Given the description of an element on the screen output the (x, y) to click on. 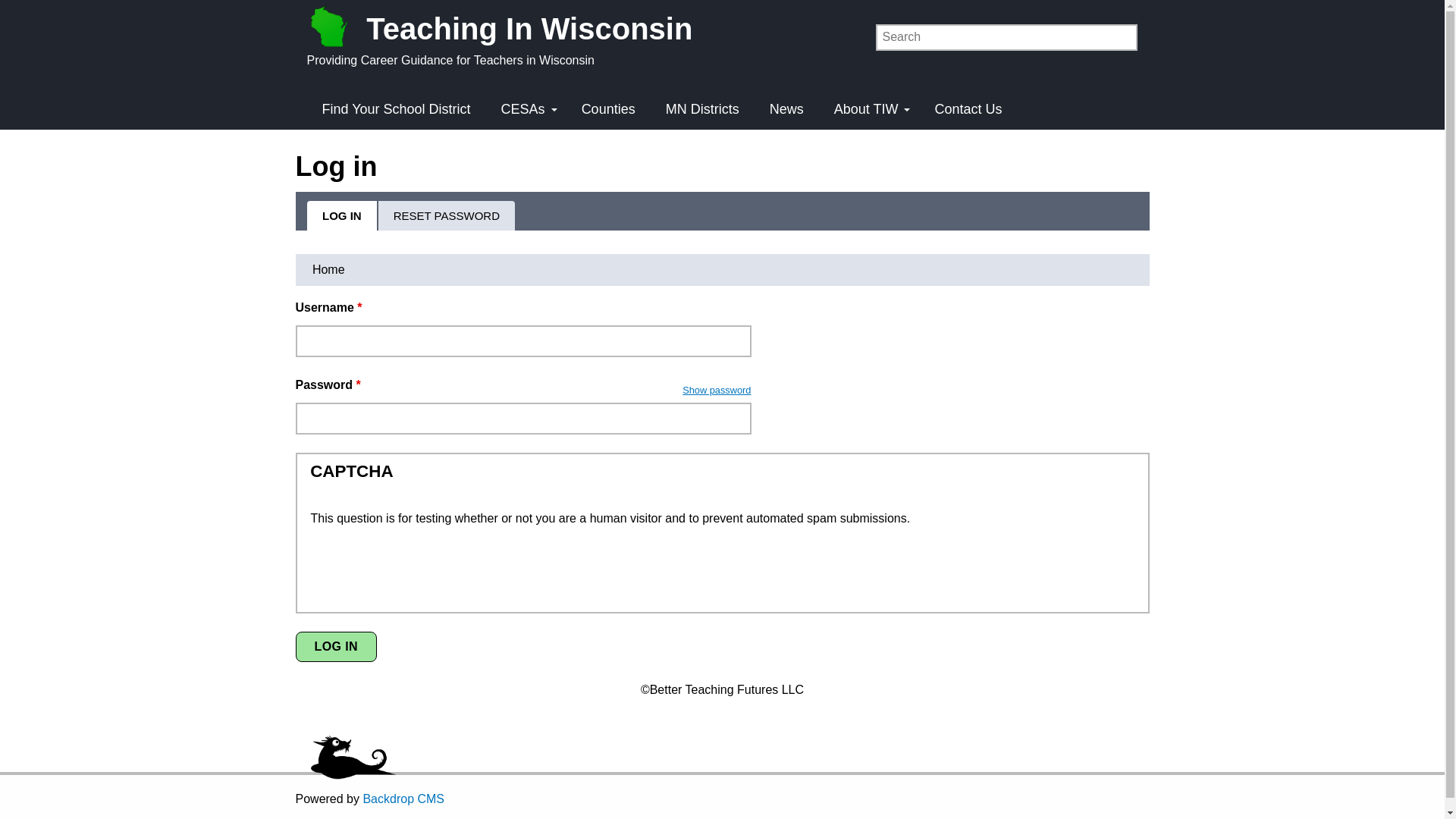
Counties (608, 109)
Check out Teacher Salaries in Minnesota Districts (702, 109)
Enter the keywords you wish to search for. (1006, 37)
News (786, 109)
Home (506, 25)
MN Districts (702, 109)
Log in (336, 646)
RESET PASSWORD (446, 215)
Teaching In Wisconsin (506, 25)
Find Your School District (394, 109)
Contact Us (967, 109)
Home (328, 269)
CESAs (526, 109)
About TIW (869, 109)
